Given the description of an element on the screen output the (x, y) to click on. 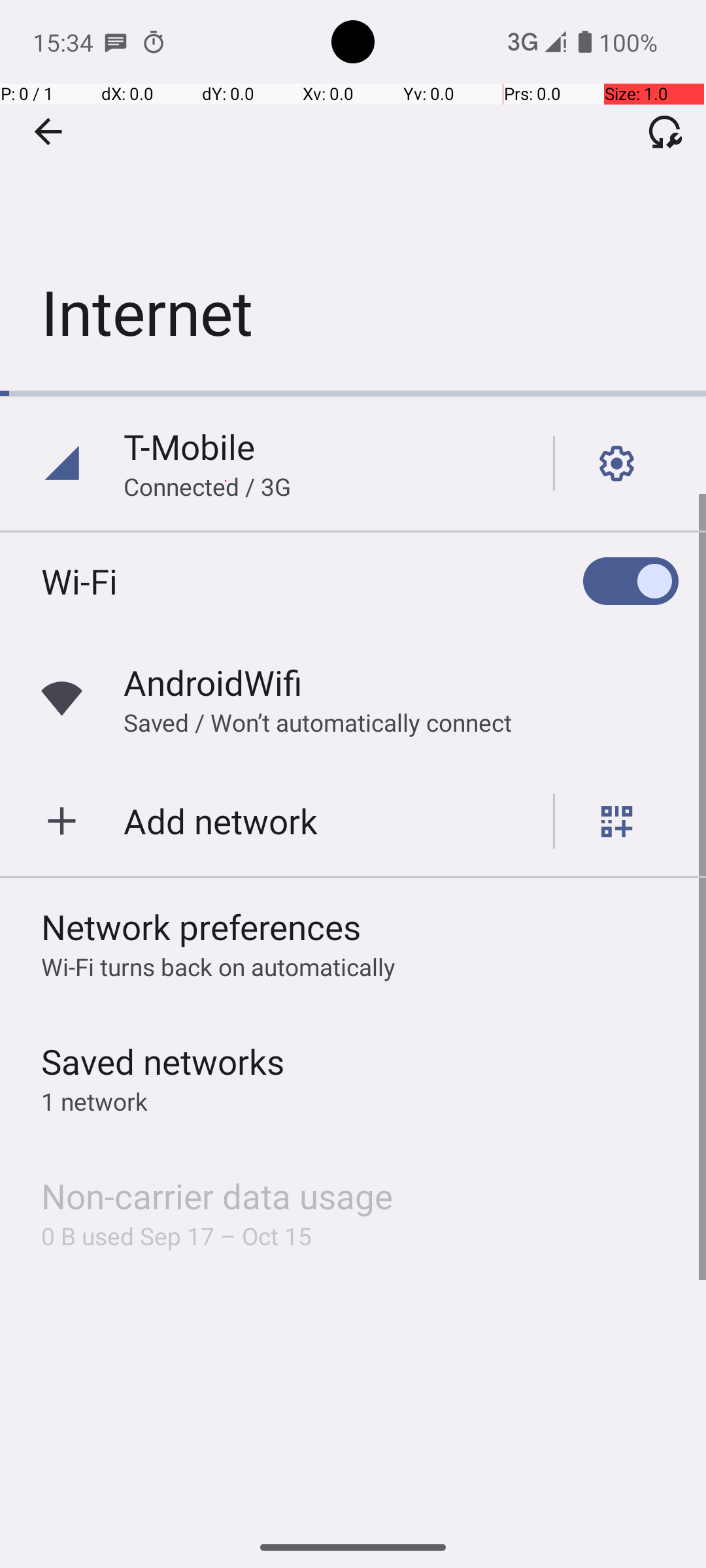
Fix connectivity Element type: android.widget.TextView (664, 131)
AndroidWifi,Saved / Won’t automatically connect,Wifi signal full.,Open network Element type: android.widget.LinearLayout (353, 698)
Connected / 3G Element type: android.widget.TextView (206, 486)
AndroidWifi Element type: android.widget.TextView (212, 682)
Saved / Won’t automatically connect Element type: android.widget.TextView (317, 721)
Add network Element type: android.widget.TextView (220, 820)
Scan QR code Element type: android.widget.ImageButton (616, 821)
Wi‑Fi turns back on automatically Element type: android.widget.TextView (218, 966)
Saved networks Element type: android.widget.TextView (163, 1061)
1 network Element type: android.widget.TextView (94, 1100)
Non-carrier data usage Element type: android.widget.TextView (216, 1195)
0 B used Sep 17 – Oct 15 Element type: android.widget.TextView (176, 1235)
